Given the description of an element on the screen output the (x, y) to click on. 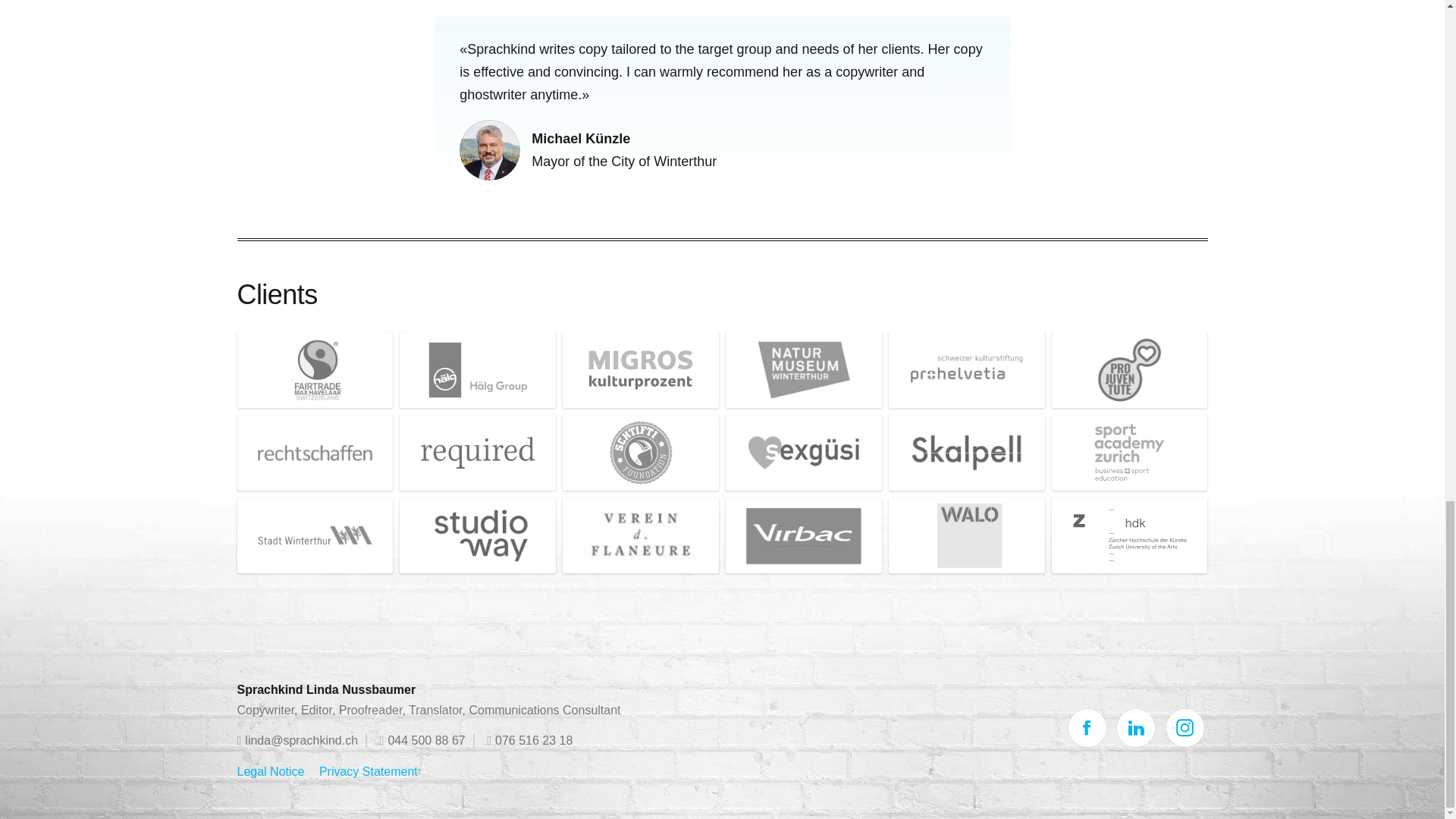
LinkedIn (1135, 727)
Facebook (1087, 727)
Privacy Statement (367, 771)
Instagram (1185, 727)
044 500 88 67 (422, 741)
Legal Notice (269, 771)
076 516 23 18 (529, 741)
